Given the description of an element on the screen output the (x, y) to click on. 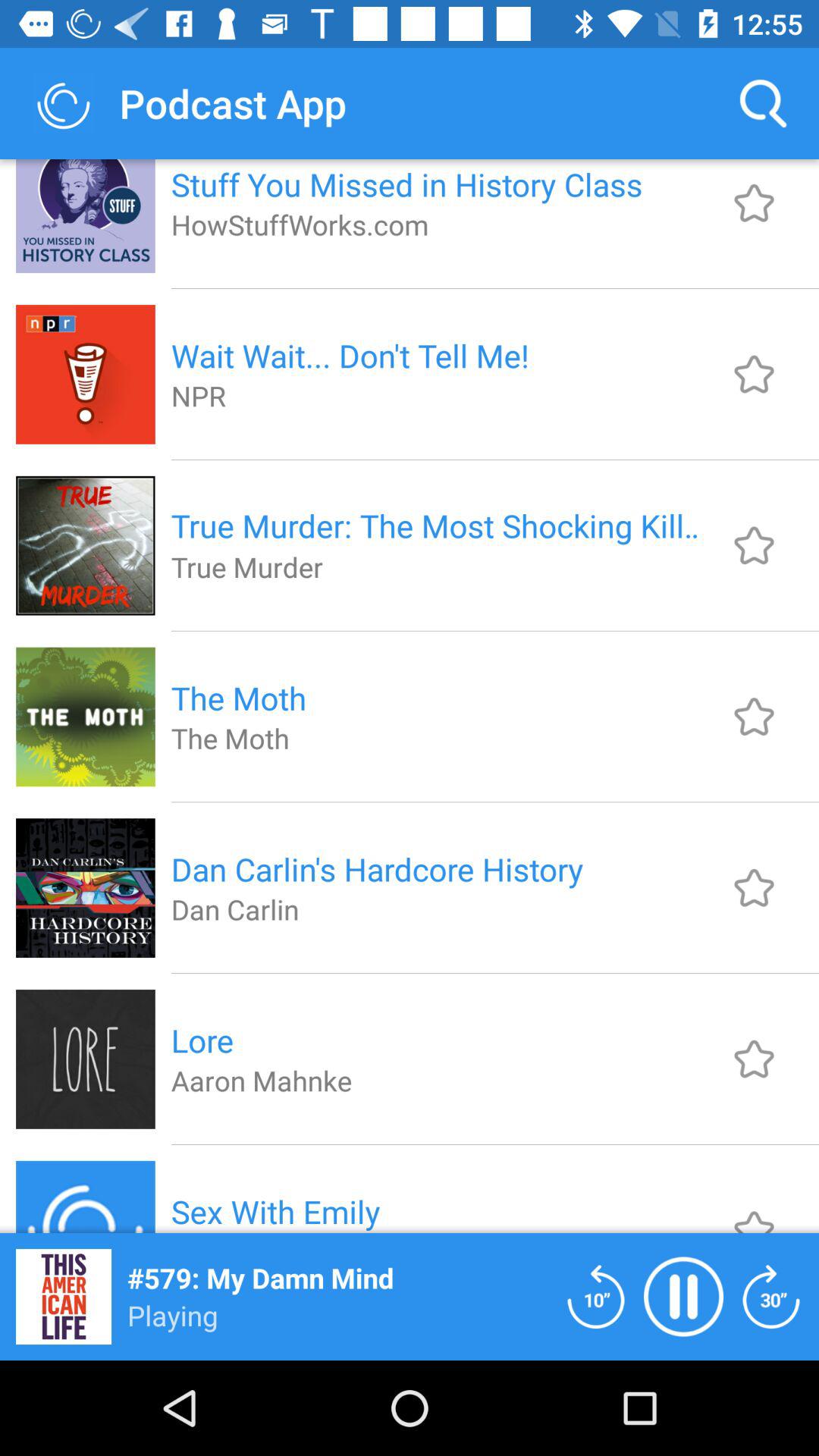
add to favorites (754, 203)
